Given the description of an element on the screen output the (x, y) to click on. 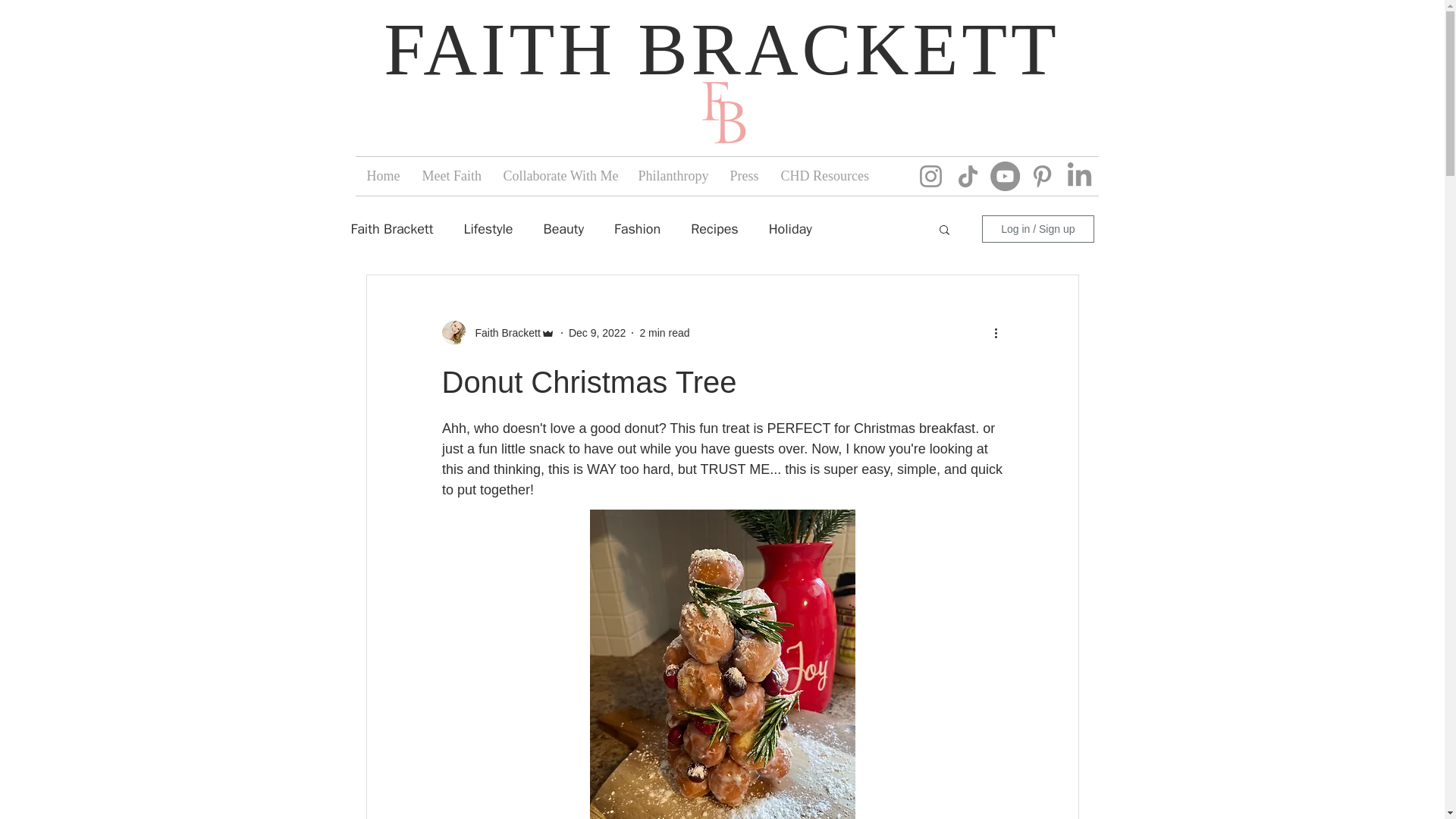
Lifestyle (487, 229)
2 min read (663, 331)
Holiday (790, 229)
Home (382, 176)
Collaborate With Me (559, 176)
Meet Faith (451, 176)
CHD Resources (821, 176)
Faith Brackett (391, 229)
Beauty (563, 229)
Dec 9, 2022 (597, 331)
